Given the description of an element on the screen output the (x, y) to click on. 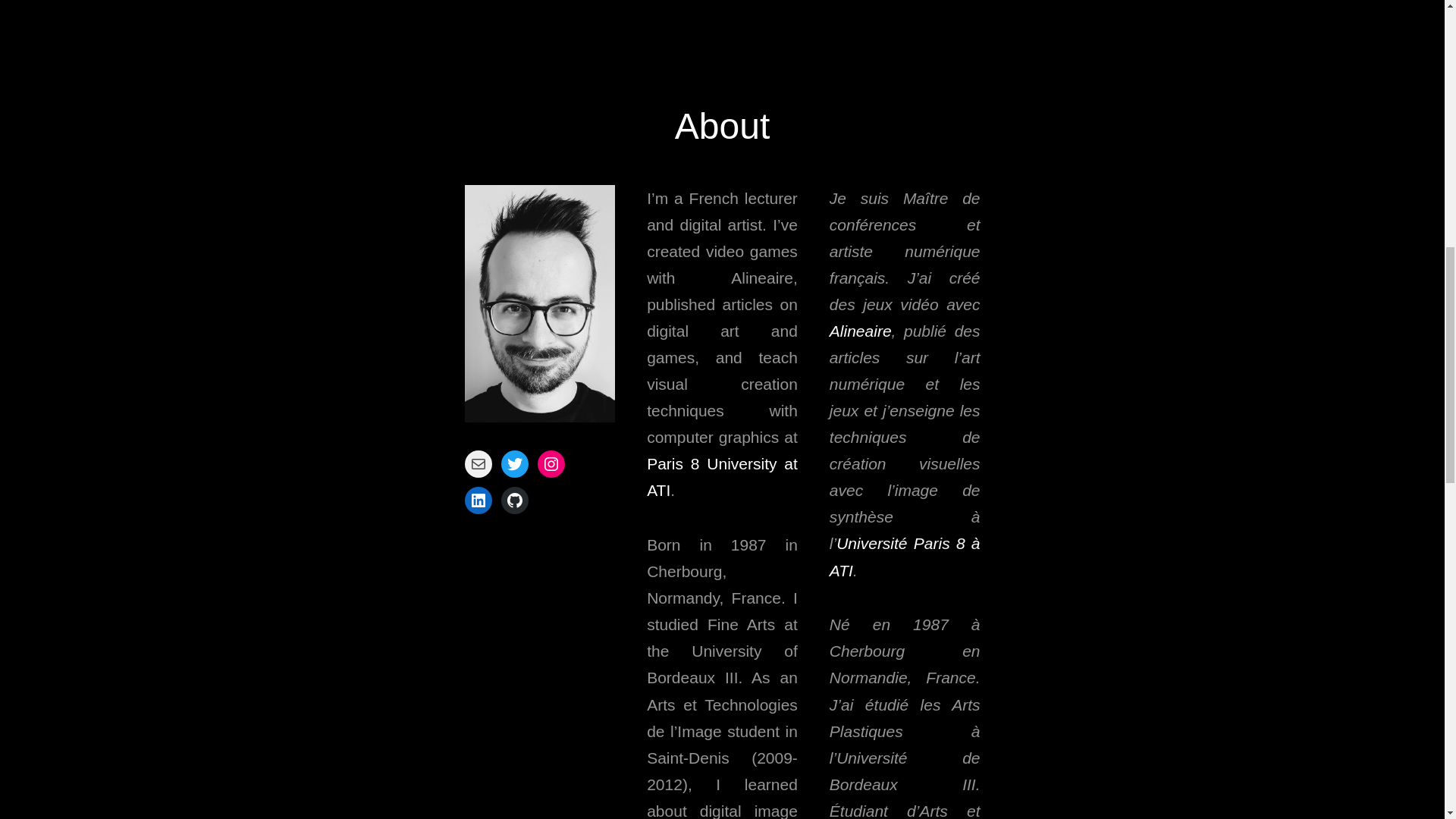
Mail (478, 463)
GitHub (513, 500)
Alineaire (860, 330)
LinkedIn (478, 500)
Instagram (550, 463)
Twitter (513, 463)
Paris 8 University at ATI (721, 476)
